Given the description of an element on the screen output the (x, y) to click on. 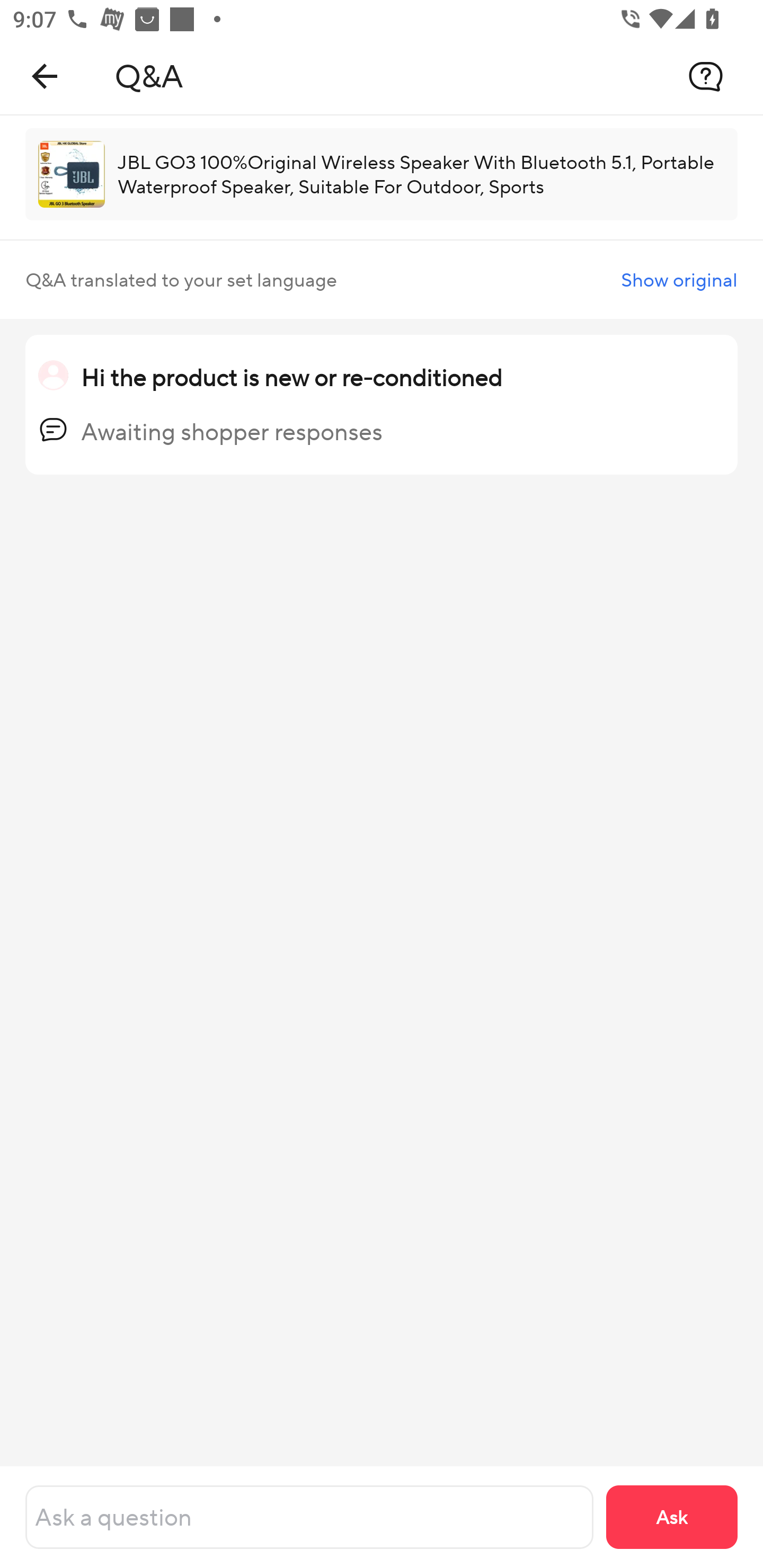
Navigate up (44, 75)
Show original (679, 279)
Hi the product is new or re-conditioned (291, 377)
Awaiting shopper responses (231, 430)
Ask a question (309, 1516)
Ask (671, 1516)
